Given the description of an element on the screen output the (x, y) to click on. 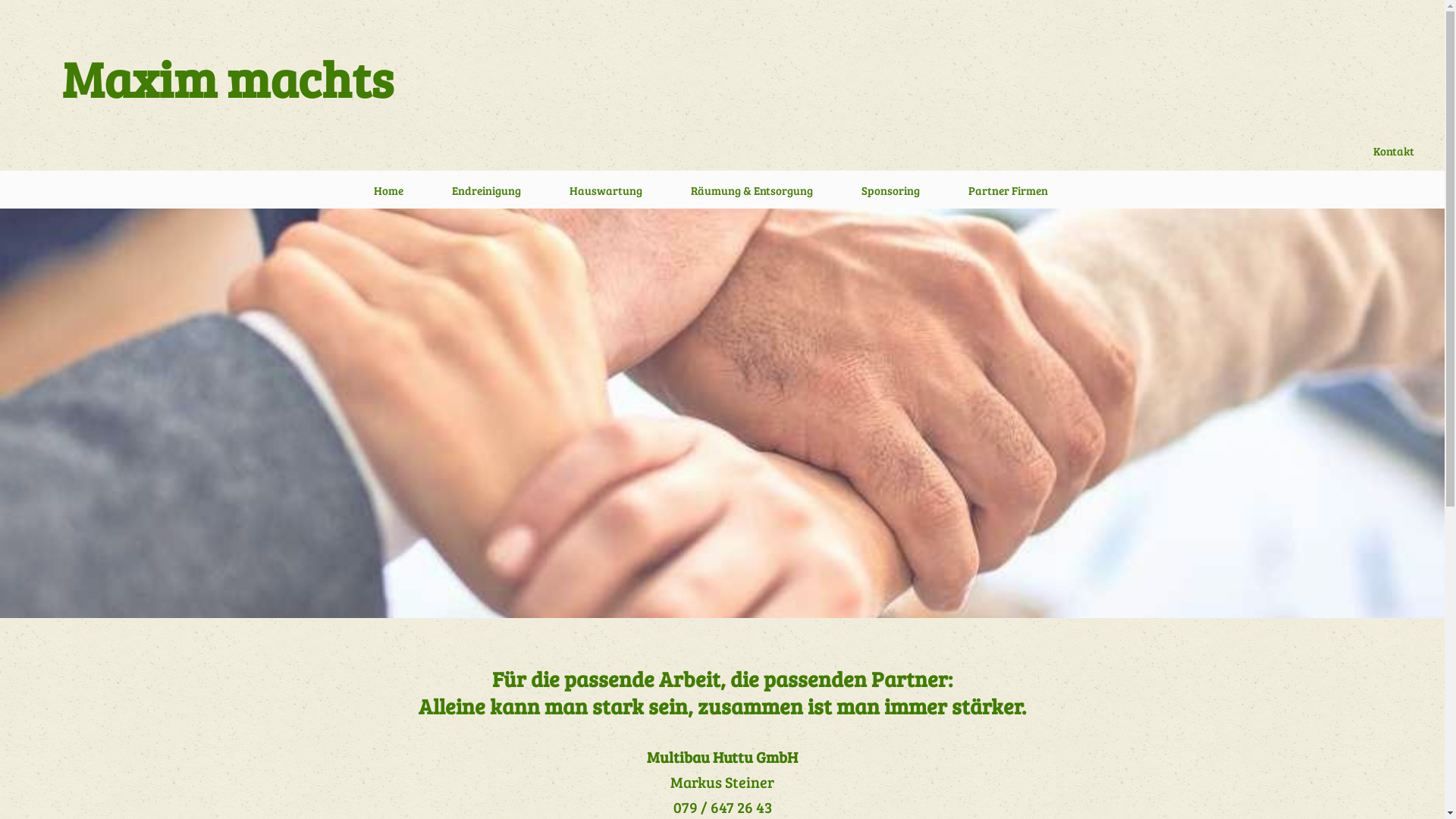
Hauswartung Element type: text (605, 193)
Home Element type: text (388, 193)
Endreinigung Element type: text (485, 193)
Sponsoring Element type: text (890, 193)
Partner Firmen Element type: text (1008, 193)
Kontakt Element type: text (1393, 150)
